Given the description of an element on the screen output the (x, y) to click on. 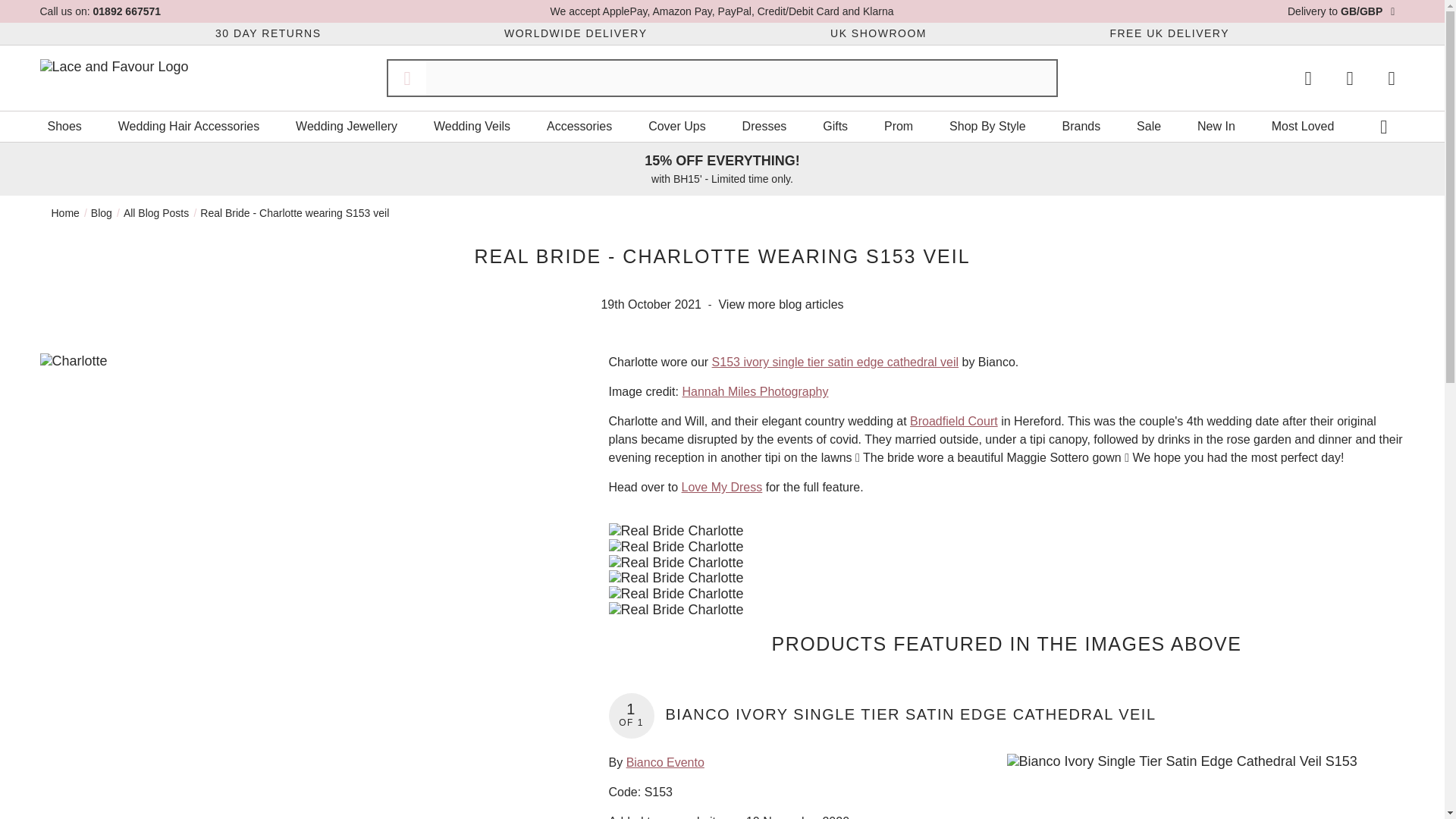
Real Bride Charlotte (1006, 578)
Shoes (63, 125)
Real Bride Charlotte (1006, 546)
View more blog articles (780, 304)
Real Bride Charlotte (1006, 562)
Real Bride Charlotte (1006, 609)
Real Bride Charlotte (1006, 593)
Real Bride Charlotte (1006, 530)
01892 667571 (127, 10)
